Given the description of an element on the screen output the (x, y) to click on. 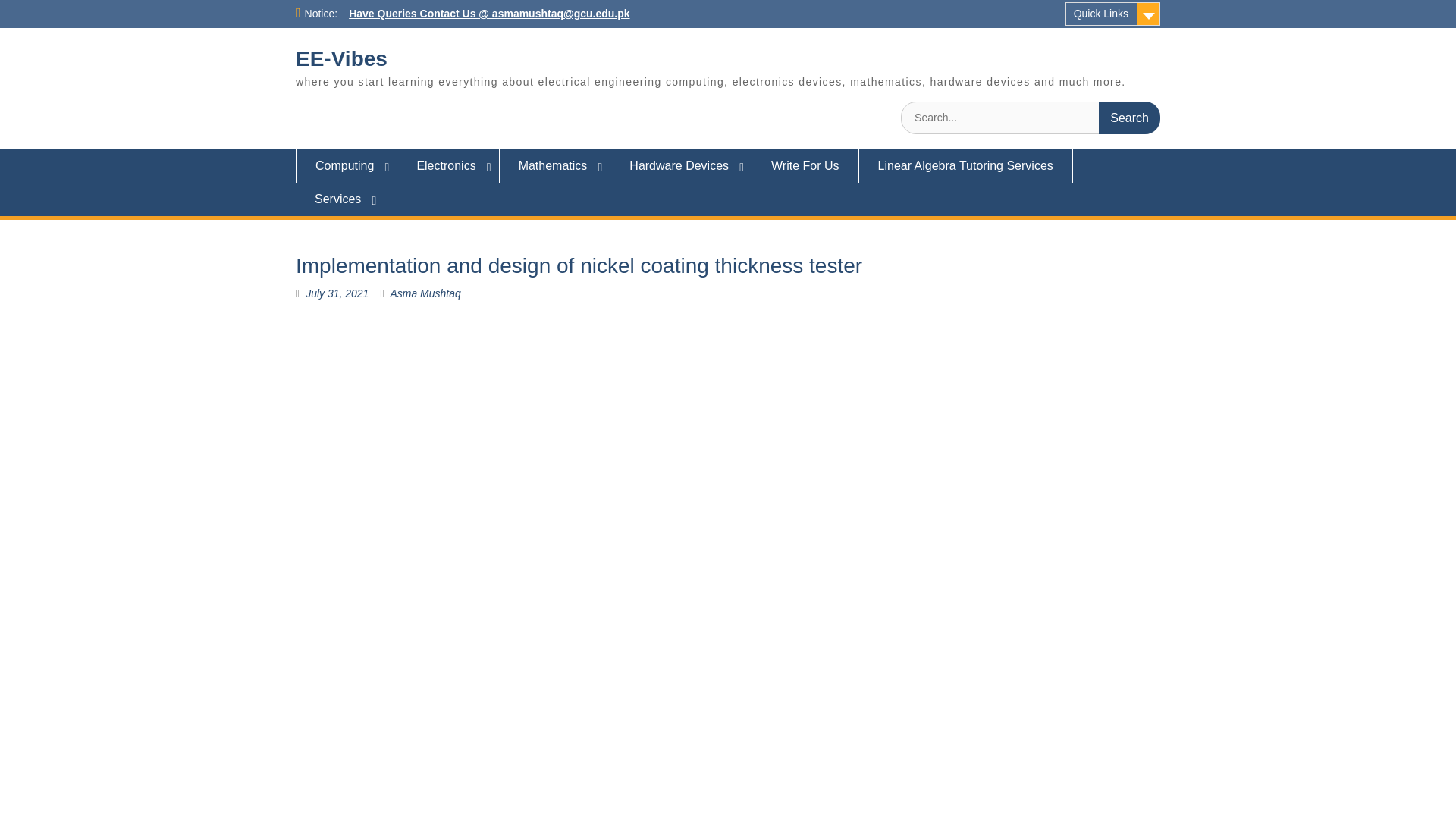
Asma Mushtaq (425, 293)
Hardware Devices (681, 165)
Mathematics (555, 165)
Electronics (448, 165)
Computing (346, 165)
Search for: (1030, 117)
Quick Links (1112, 13)
Services (339, 199)
July 31, 2021 (336, 293)
Search (1129, 117)
